Given the description of an element on the screen output the (x, y) to click on. 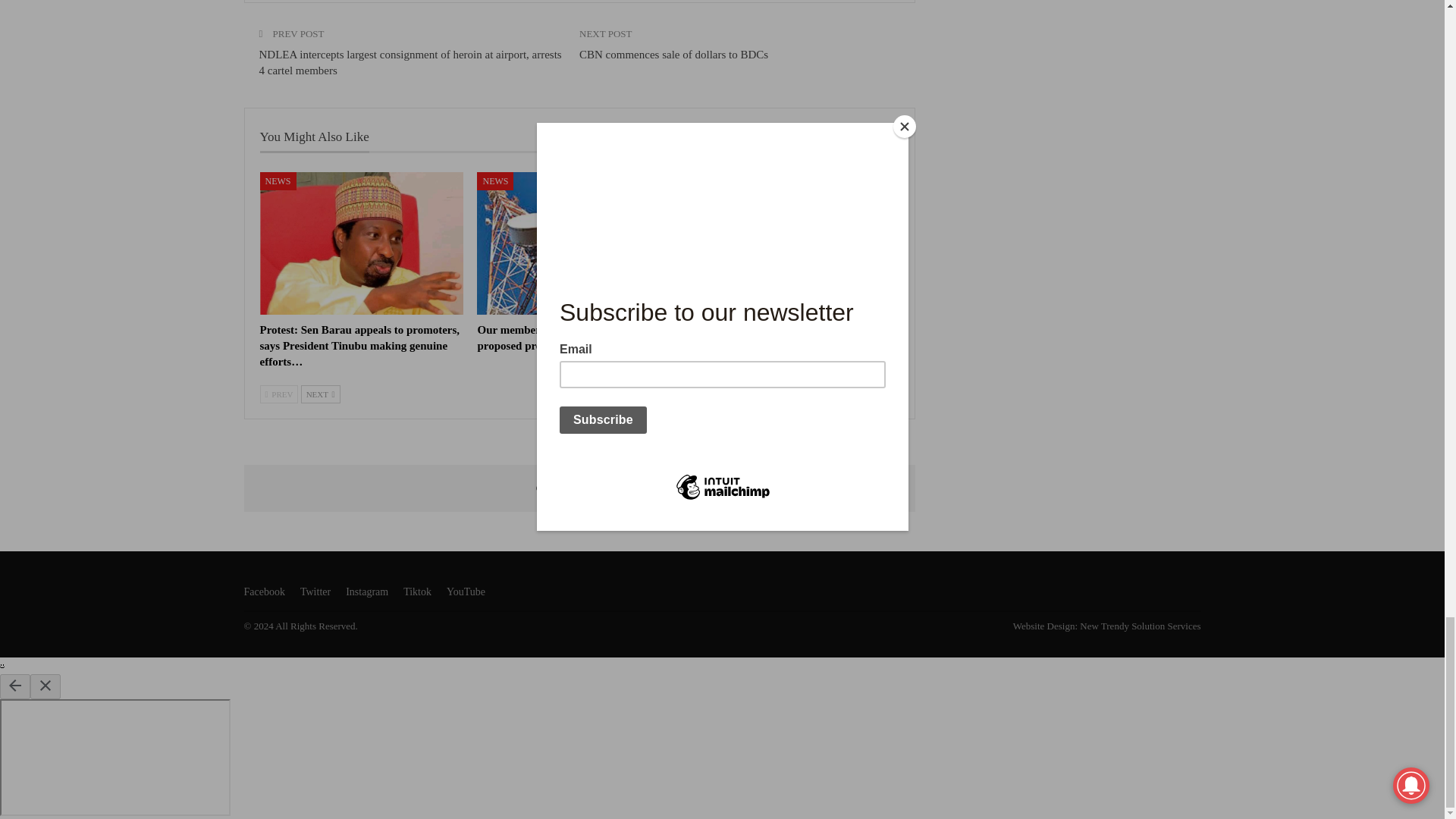
Previous (278, 393)
